Given the description of an element on the screen output the (x, y) to click on. 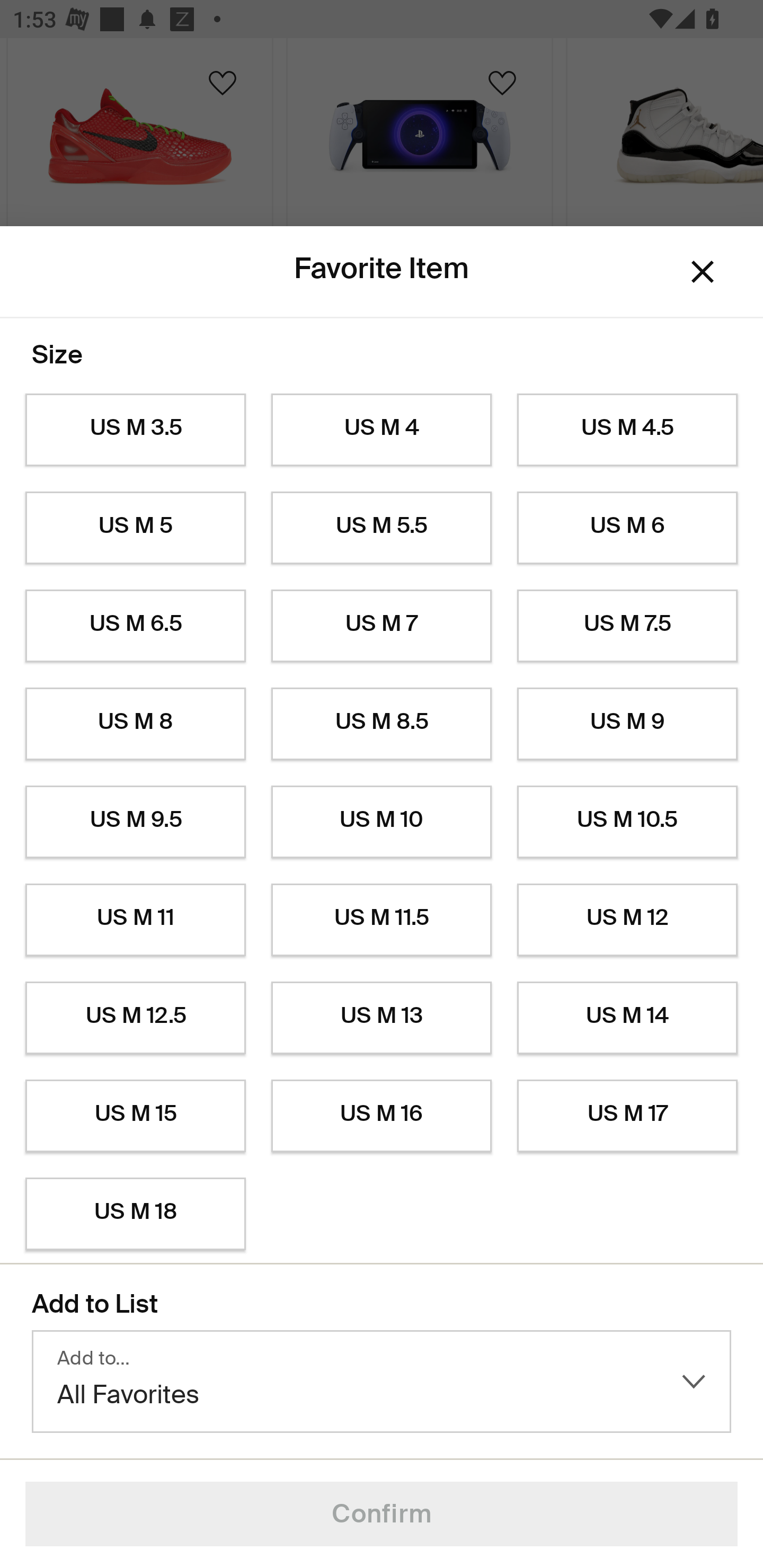
Dismiss (702, 271)
US M 3.5 (135, 430)
US M 4 (381, 430)
US M 4.5 (627, 430)
US M 5 (135, 527)
US M 5.5 (381, 527)
US M 6 (627, 527)
US M 6.5 (135, 626)
US M 7 (381, 626)
US M 7.5 (627, 626)
US M 8 (135, 724)
US M 8.5 (381, 724)
US M 9 (627, 724)
US M 9.5 (135, 822)
US M 10 (381, 822)
US M 10.5 (627, 822)
US M 11 (135, 919)
US M 11.5 (381, 919)
US M 12 (627, 919)
US M 12.5 (135, 1018)
US M 13 (381, 1018)
US M 14 (627, 1018)
US M 15 (135, 1116)
US M 16 (381, 1116)
US M 17 (627, 1116)
US M 18 (135, 1214)
Add to… All Favorites (381, 1381)
Confirm (381, 1513)
